Given the description of an element on the screen output the (x, y) to click on. 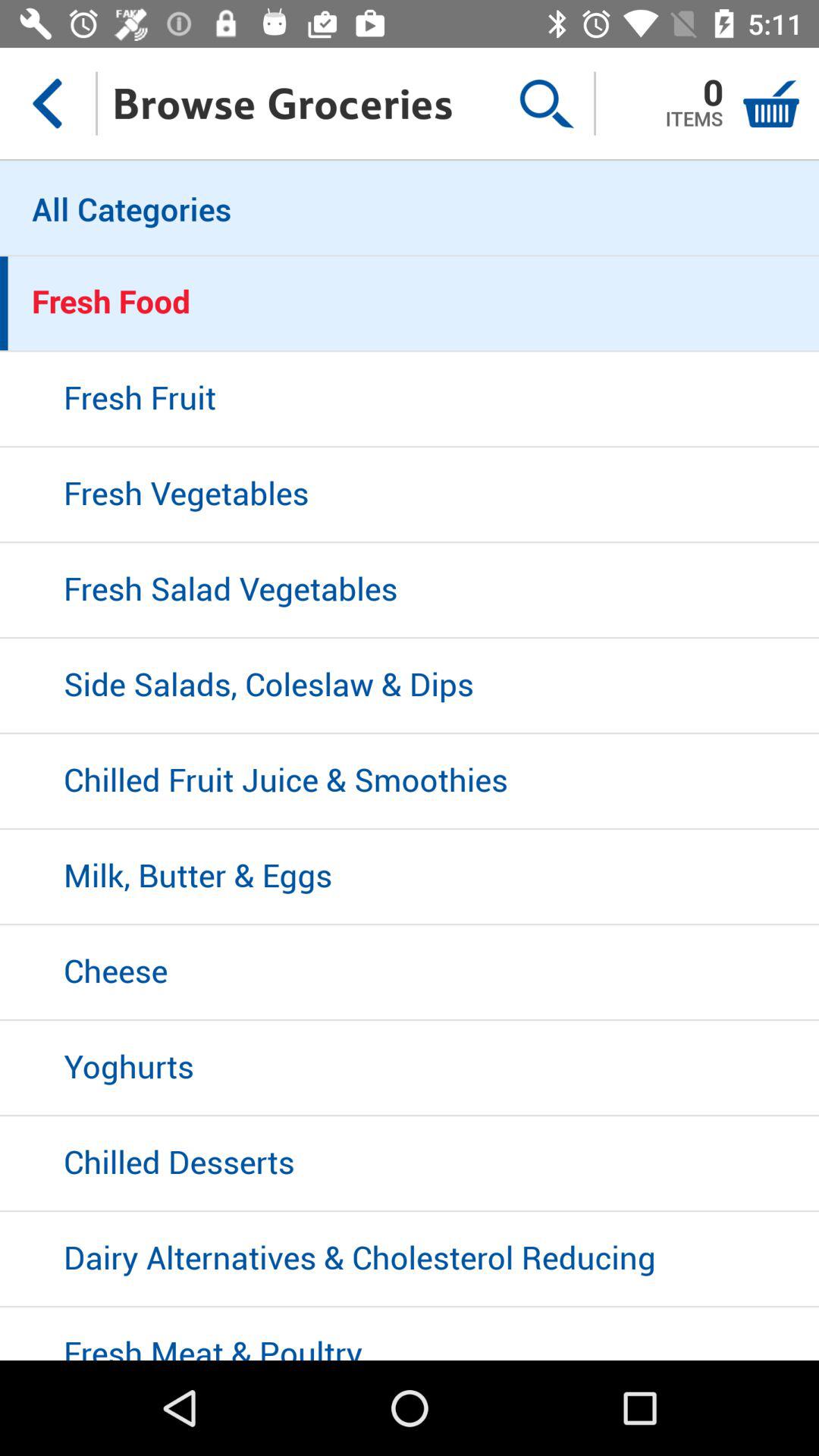
swipe to milk, butter & eggs (409, 877)
